Given the description of an element on the screen output the (x, y) to click on. 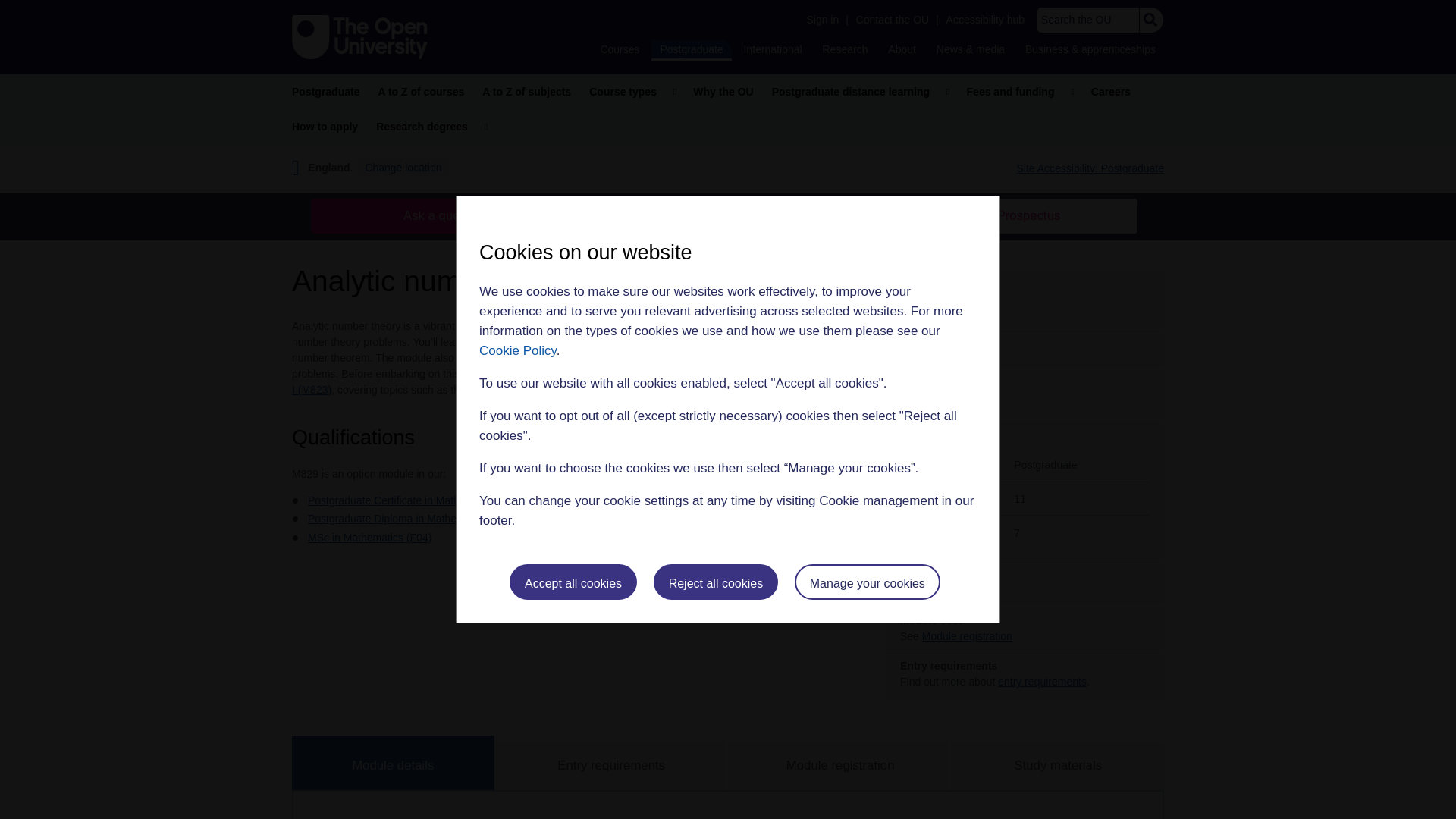
Accessibility hub (985, 19)
Research (844, 49)
Search (1149, 19)
Reject all cookies (715, 581)
Courses (619, 49)
International (772, 49)
Sign in (822, 19)
Accept all cookies (573, 581)
Postgraduate (690, 50)
